Given the description of an element on the screen output the (x, y) to click on. 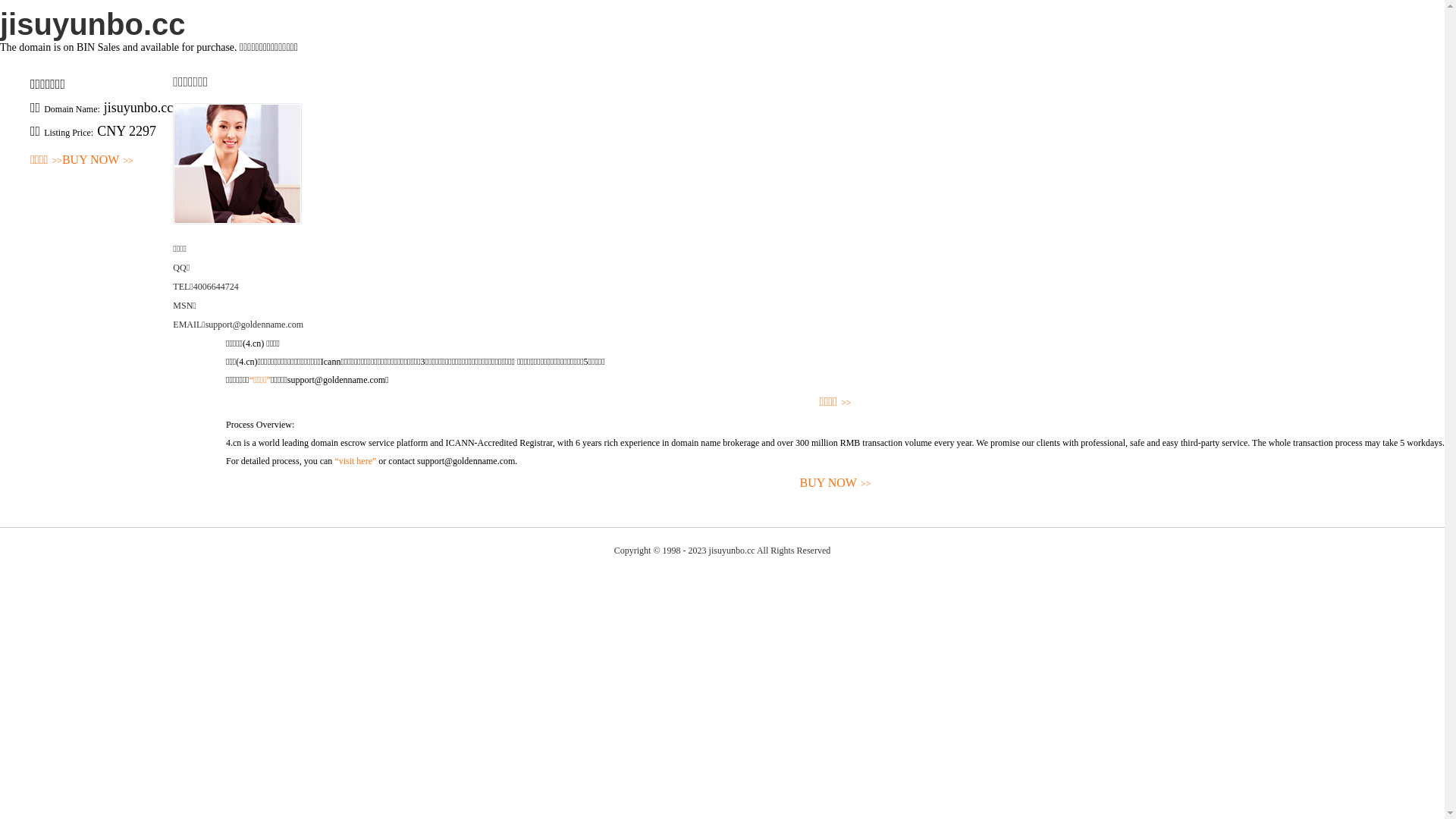
BUY NOW>> Element type: text (834, 483)
BUY NOW>> Element type: text (97, 160)
